Given the description of an element on the screen output the (x, y) to click on. 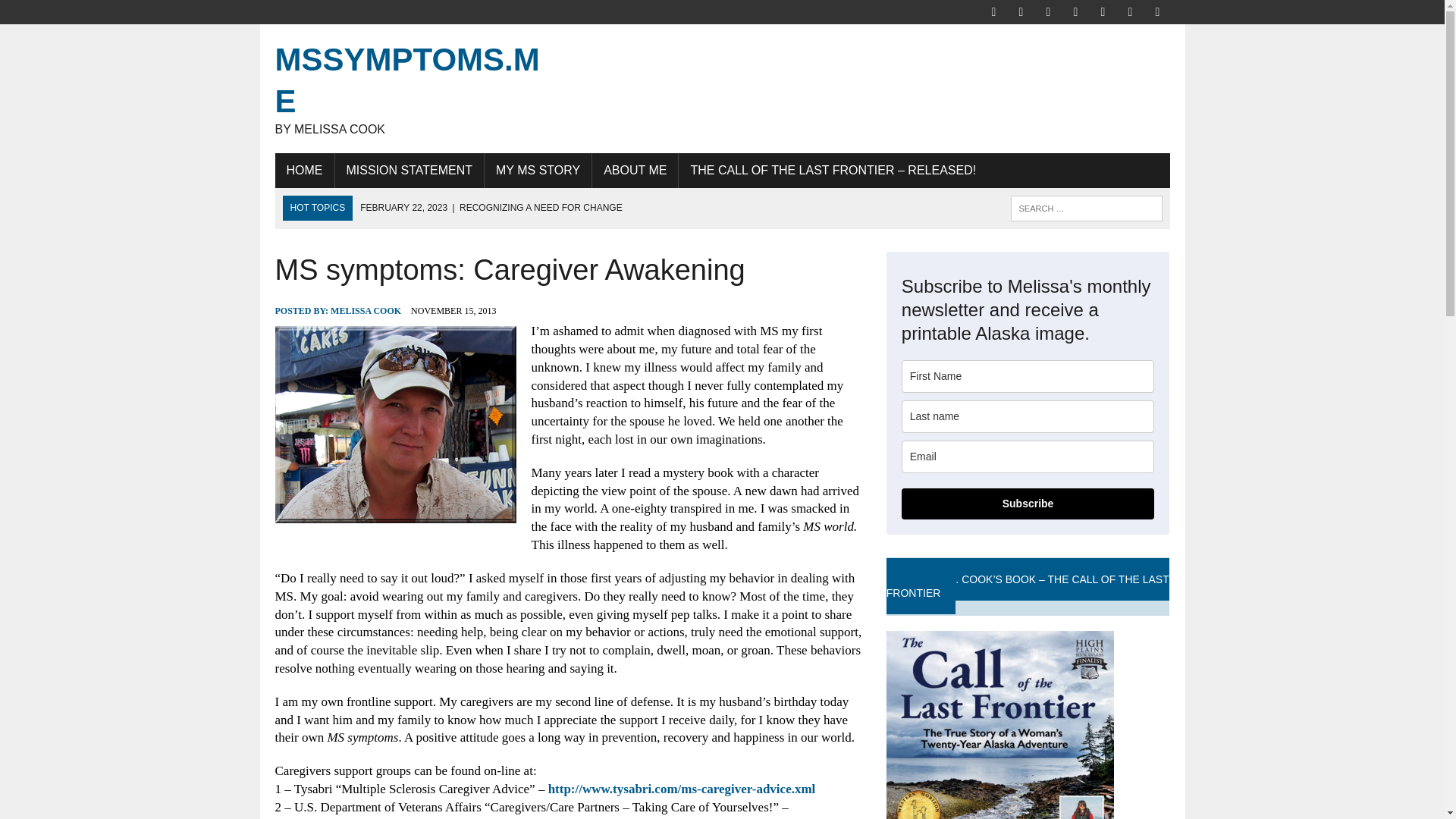
Wyoming Jeepers (1047, 10)
HOME (304, 170)
MISSION STATEMENT (409, 170)
Recognizing a Need for Change (490, 207)
Subscribe (1027, 503)
Search (416, 88)
ABOUT ME (75, 14)
MELISSA COOK (635, 170)
MSsymptoms.me (365, 310)
MY MS STORY (416, 88)
